Given the description of an element on the screen output the (x, y) to click on. 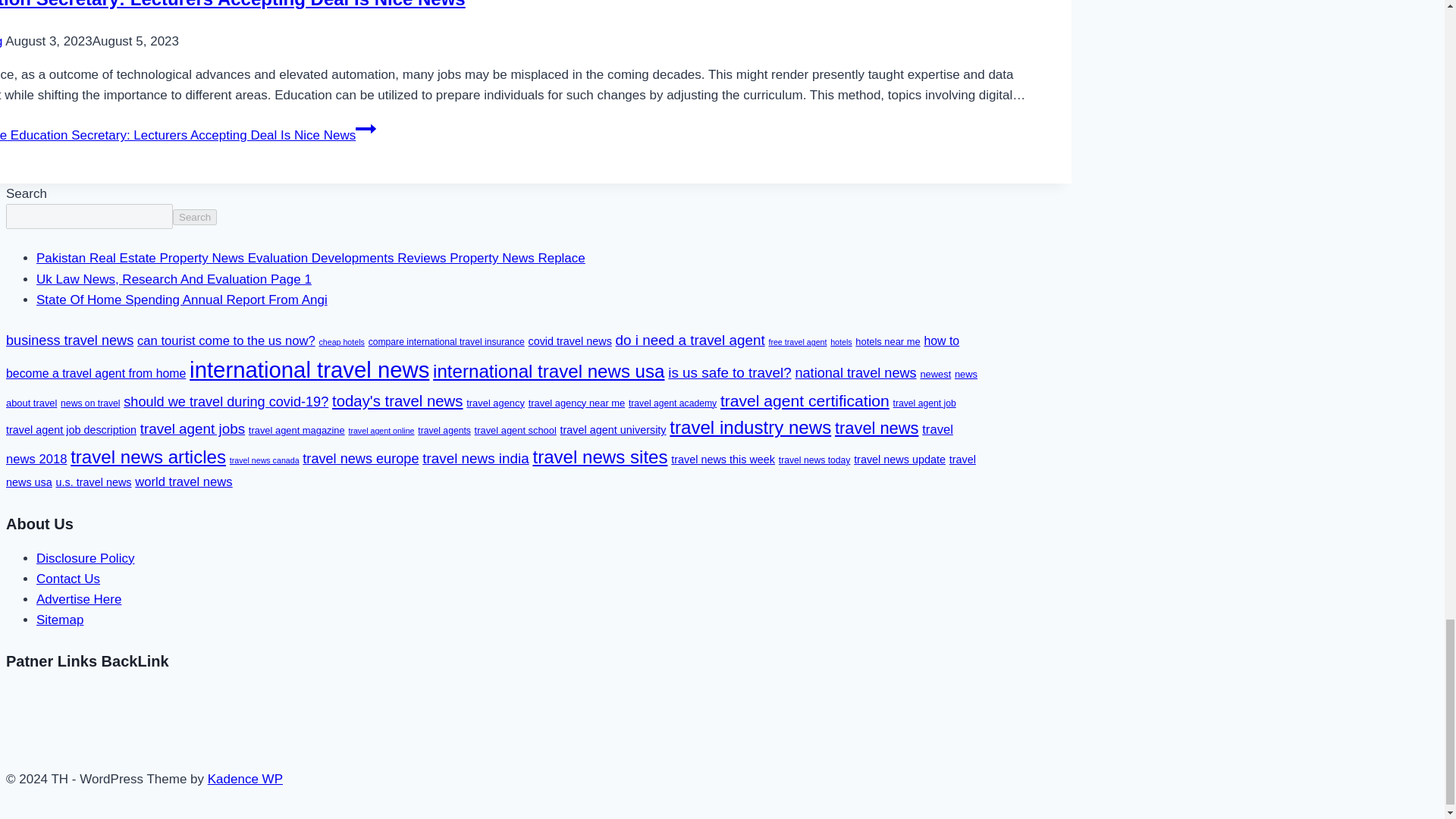
Continue (365, 128)
